Given the description of an element on the screen output the (x, y) to click on. 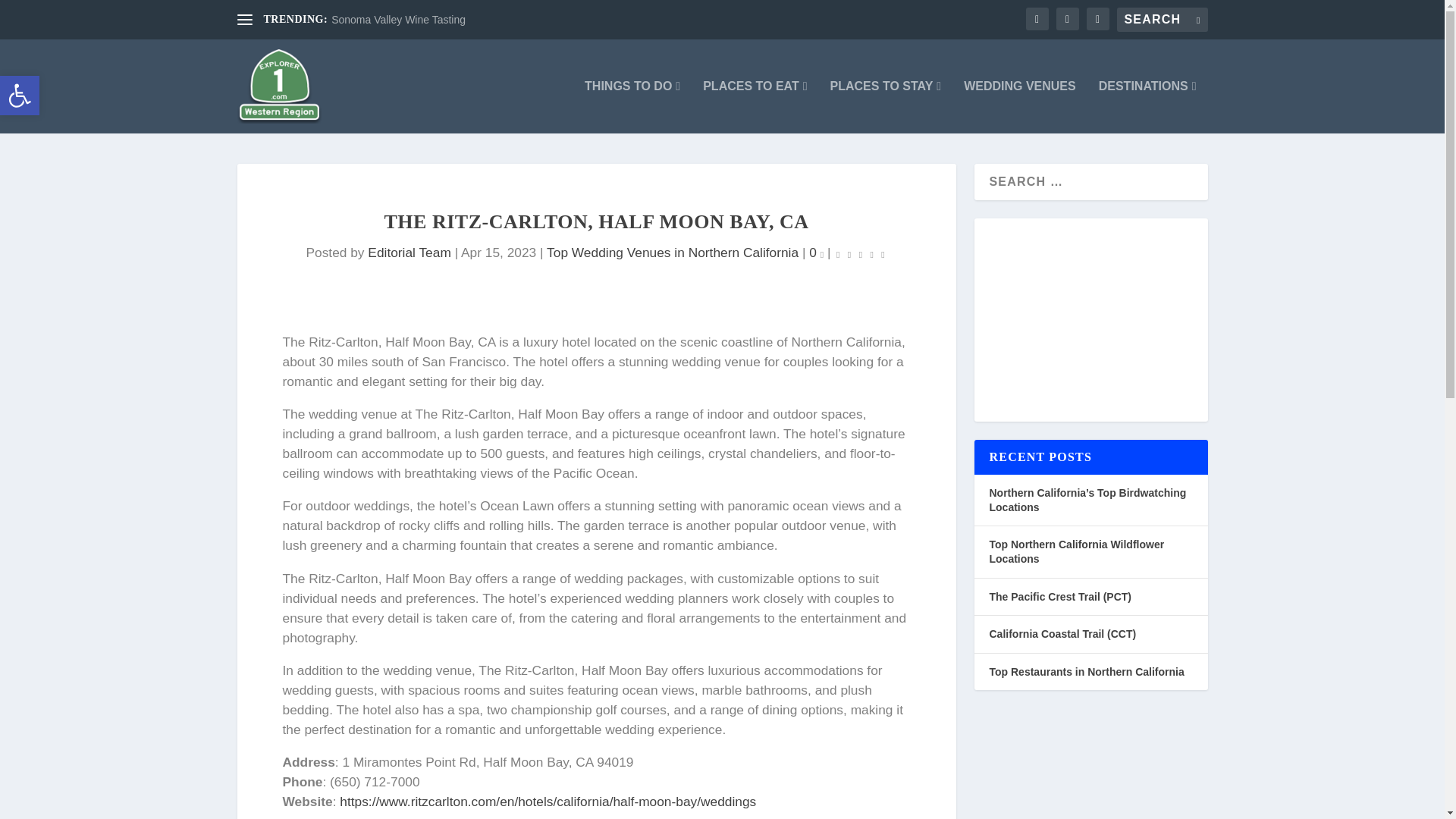
Sonoma Valley Wine Tasting (398, 19)
Accessibility Tools (19, 95)
Accessibility Tools (19, 95)
Posts by Editorial Team (408, 252)
SEARCH (1216, 14)
Search for: (1161, 19)
Rating: 0.00 (19, 95)
THINGS TO DO (860, 252)
